Given the description of an element on the screen output the (x, y) to click on. 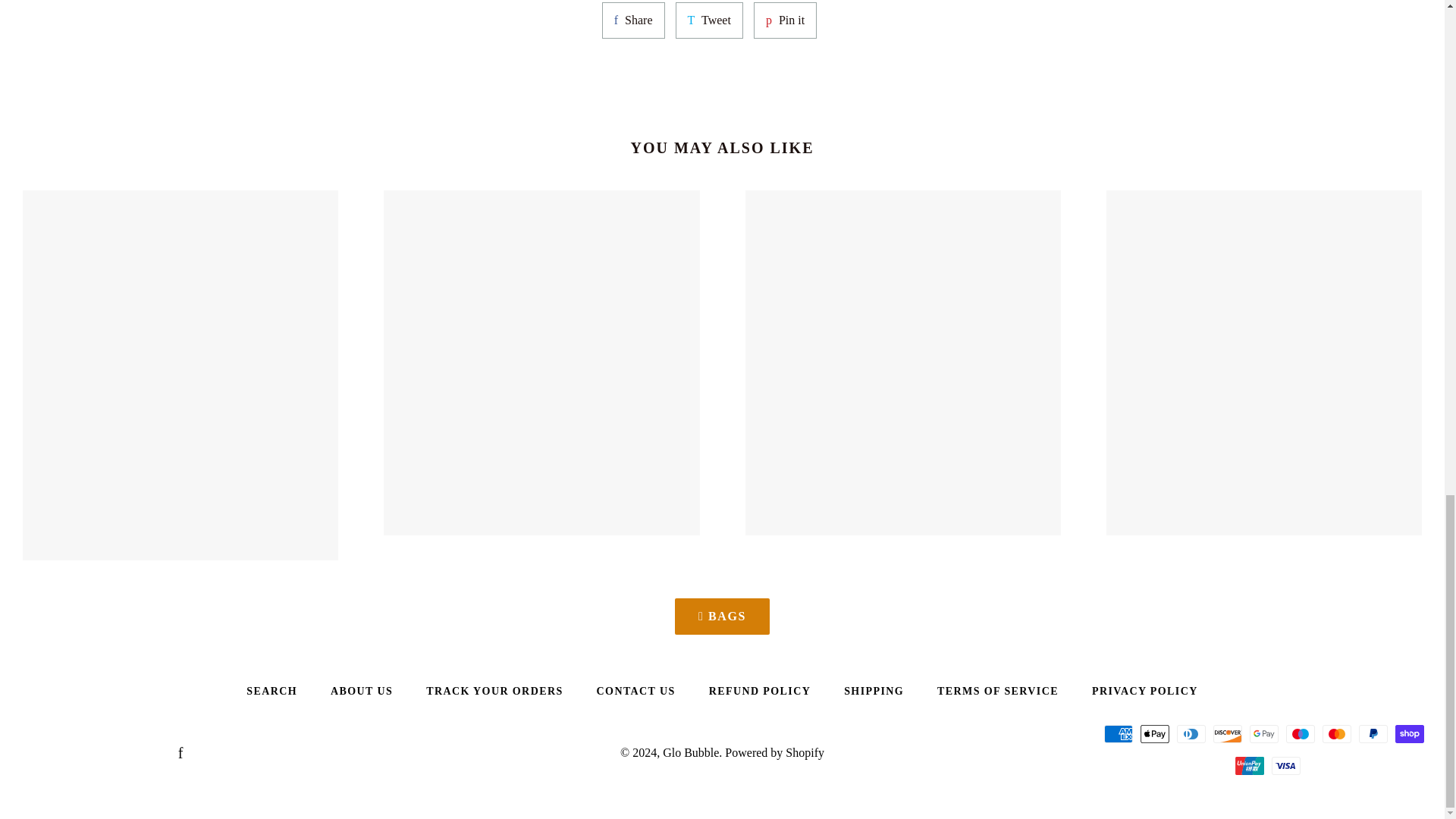
Share on Facebook (633, 20)
Pin on Pinterest (785, 20)
CONTACT US (635, 691)
Maestro (1299, 733)
Diners Club (1190, 733)
Google Pay (1263, 733)
Mastercard (1336, 733)
SEARCH (272, 691)
Apple Pay (708, 20)
